Given the description of an element on the screen output the (x, y) to click on. 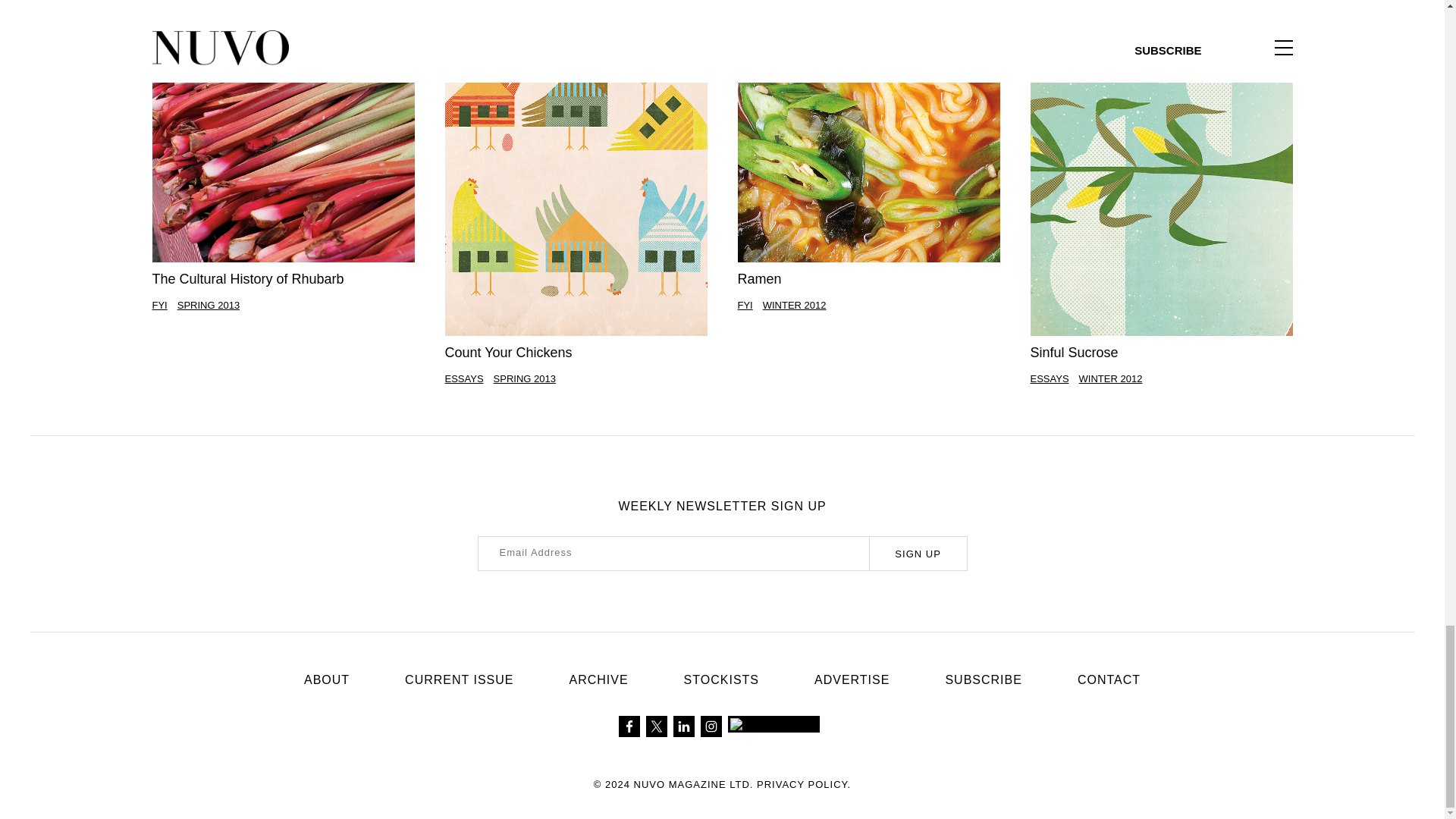
Sign Up (917, 553)
